Given the description of an element on the screen output the (x, y) to click on. 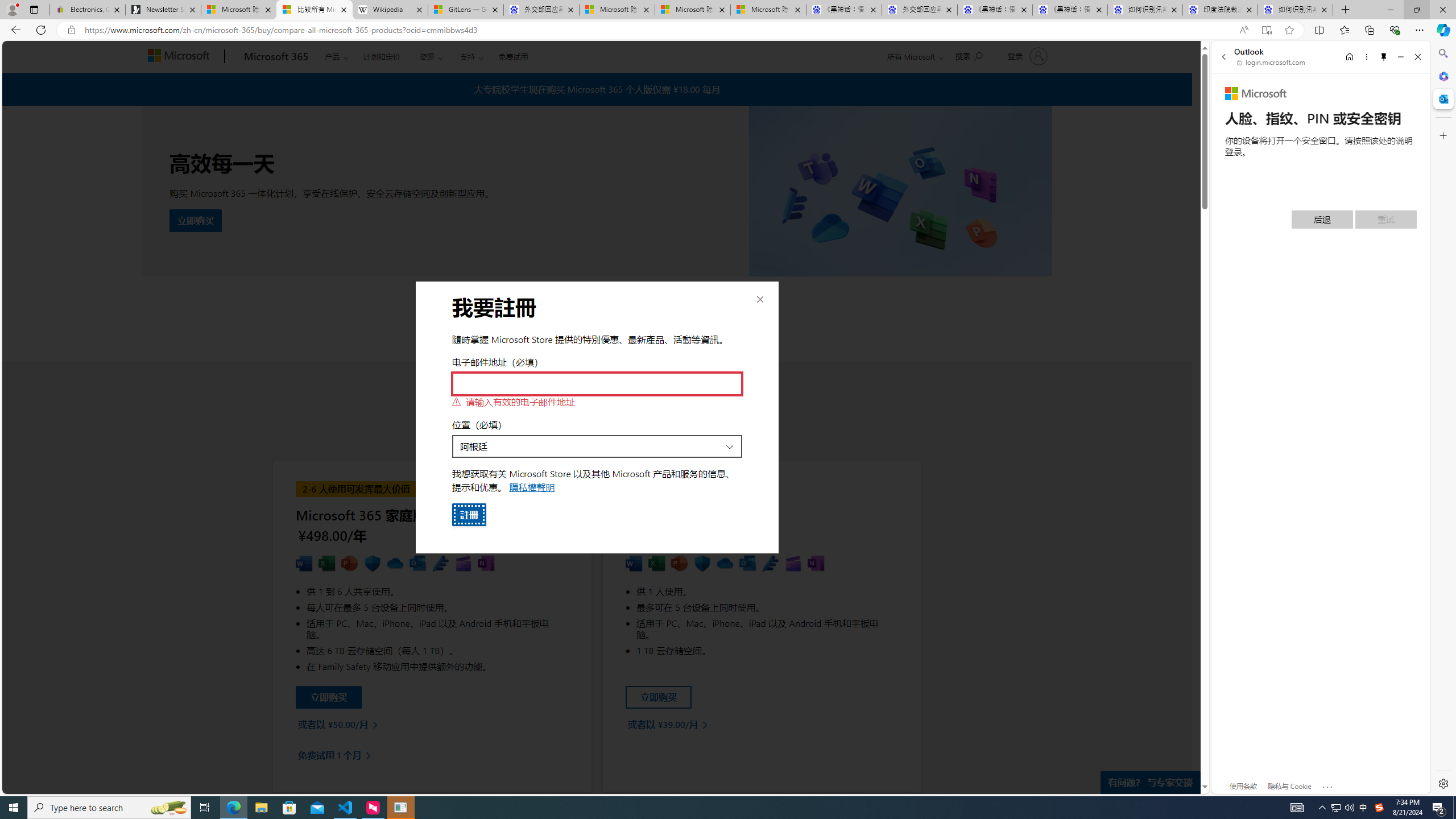
Wikipedia (389, 9)
login.microsoft.com (1271, 61)
